Given the description of an element on the screen output the (x, y) to click on. 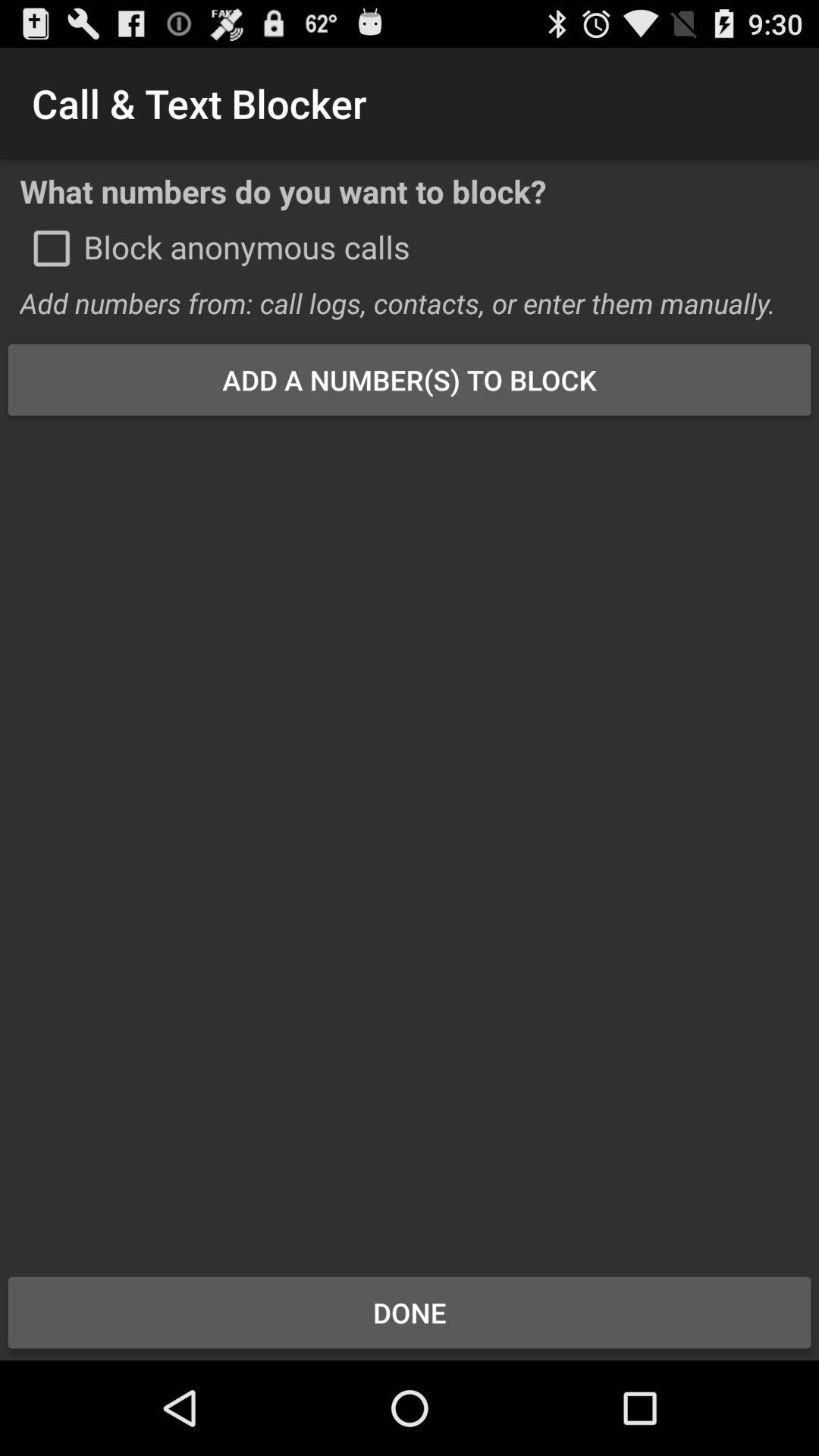
choose item above the add numbers from app (51, 248)
